Given the description of an element on the screen output the (x, y) to click on. 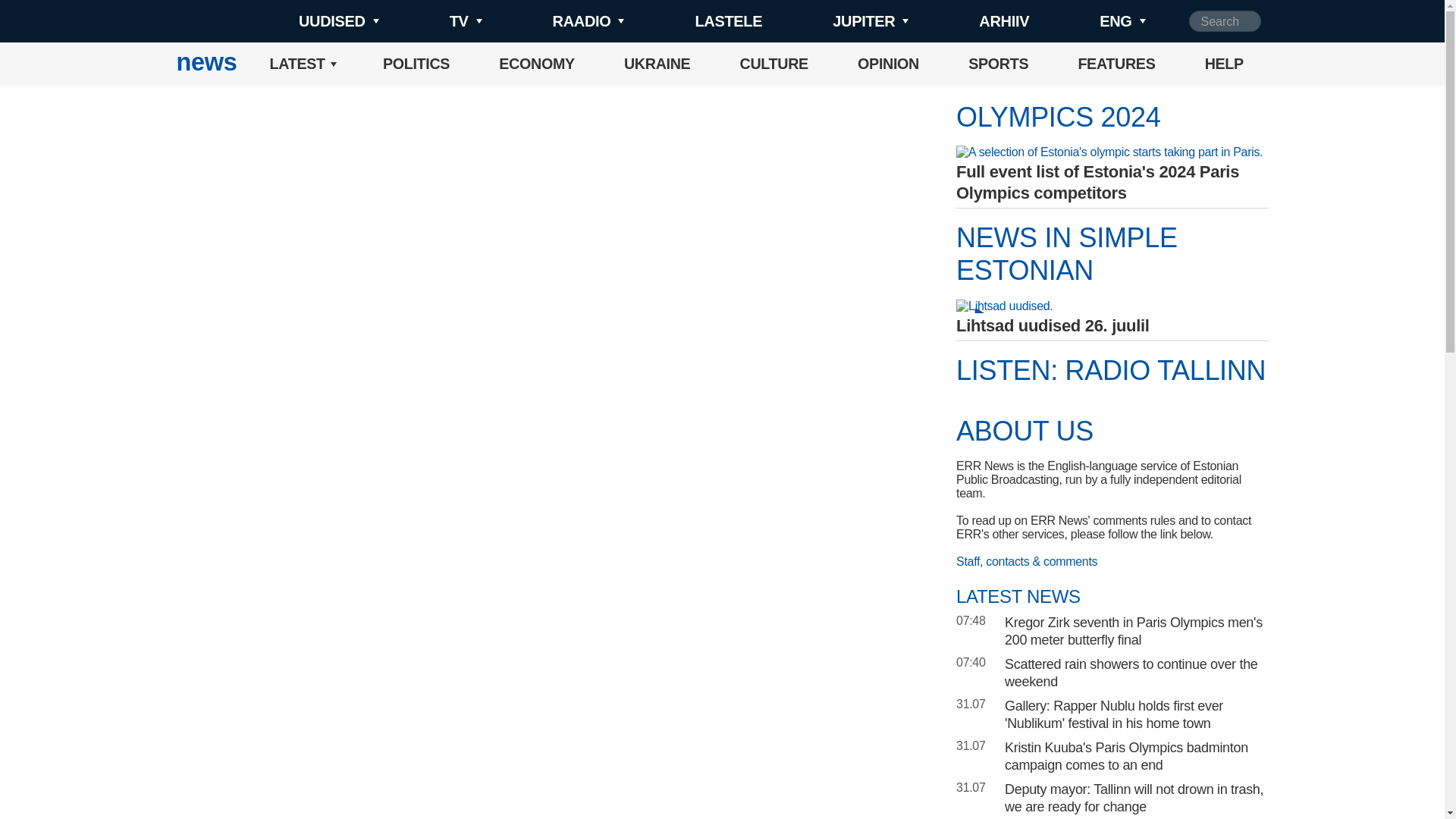
Avalehele (205, 63)
TV (440, 21)
UUDISED (314, 21)
RAADIO (563, 21)
